Given the description of an element on the screen output the (x, y) to click on. 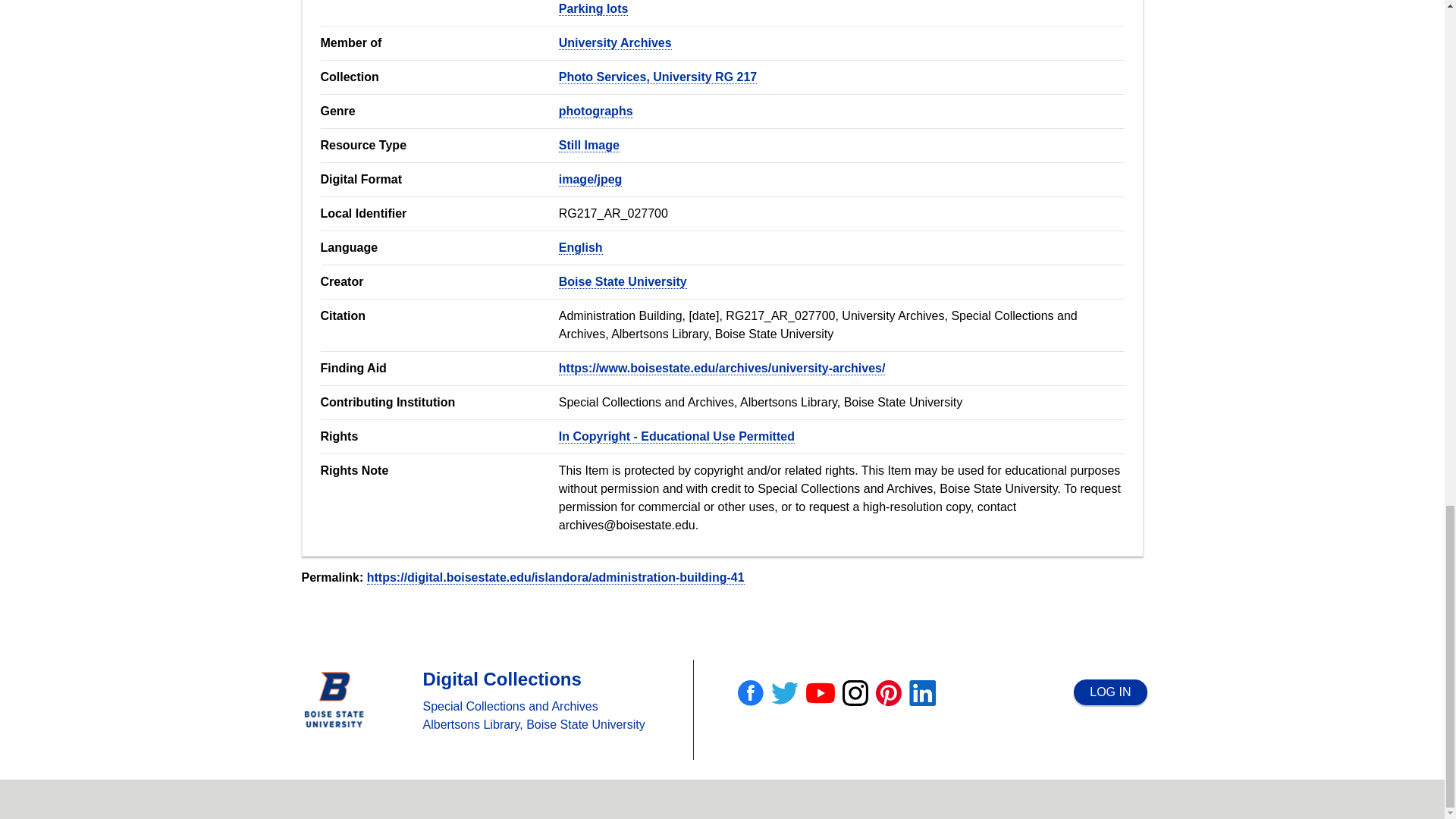
Boise State University (623, 282)
Photo Services, University RG 217 (658, 77)
LOG IN (1110, 692)
IG Logo (855, 692)
University Archives (615, 42)
In Copyright - Educational Use Permitted (676, 436)
Home (501, 679)
Parking lots (593, 8)
English (580, 247)
photographs (596, 110)
